Given the description of an element on the screen output the (x, y) to click on. 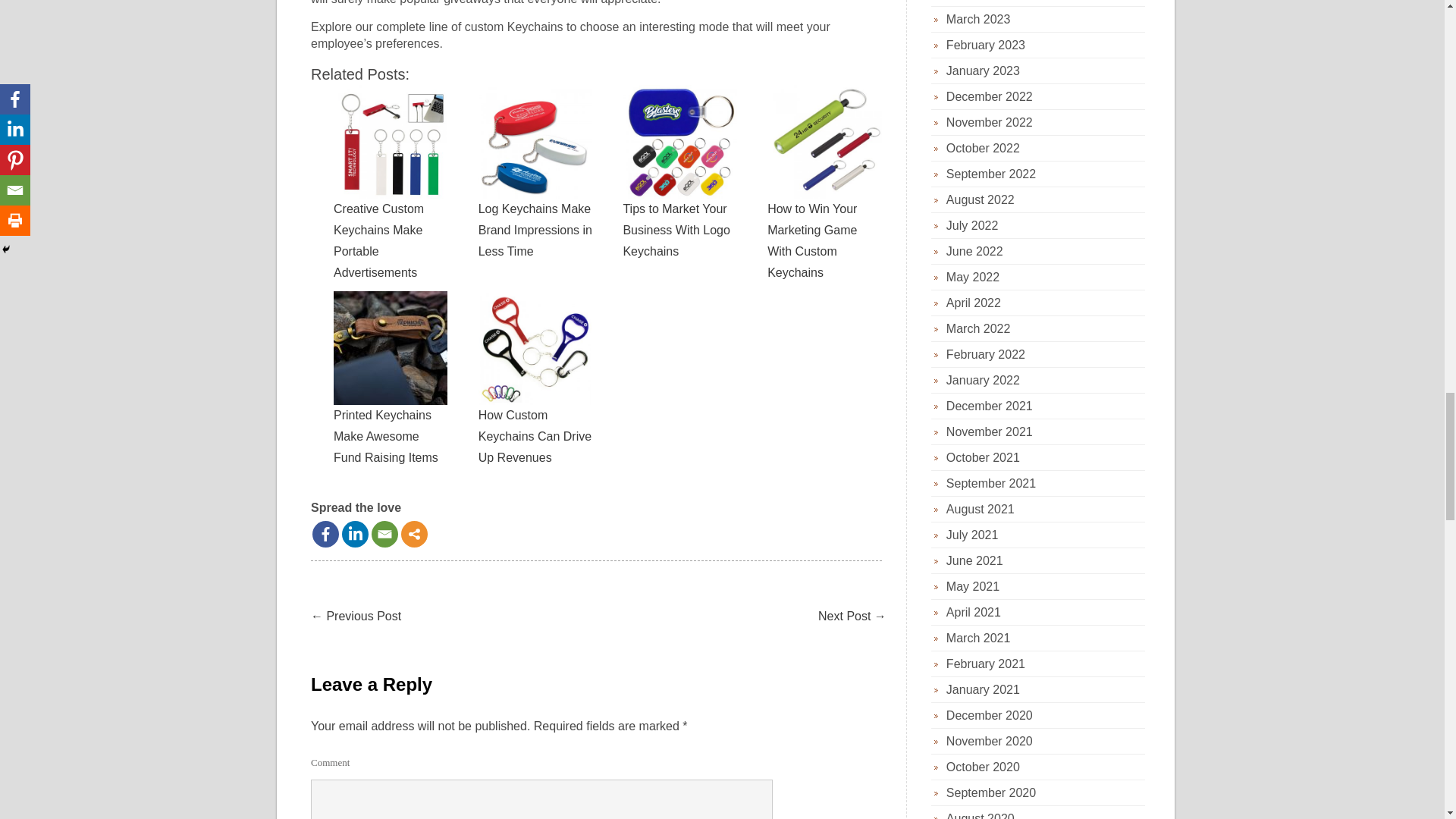
Log Keychains Make Brand Impressions in Less Time (535, 142)
Creative Custom Keychains Make Portable Advertisements (389, 142)
Tips to Market Your Business With Logo Keychains (679, 142)
How Custom Keychains Can Drive Up Revenues (535, 347)
Facebook (326, 533)
How to  Win Your Marketing Game With Custom Keychains (823, 142)
Printed Keychains Make Awesome Fund Raising Items (389, 347)
